Given the description of an element on the screen output the (x, y) to click on. 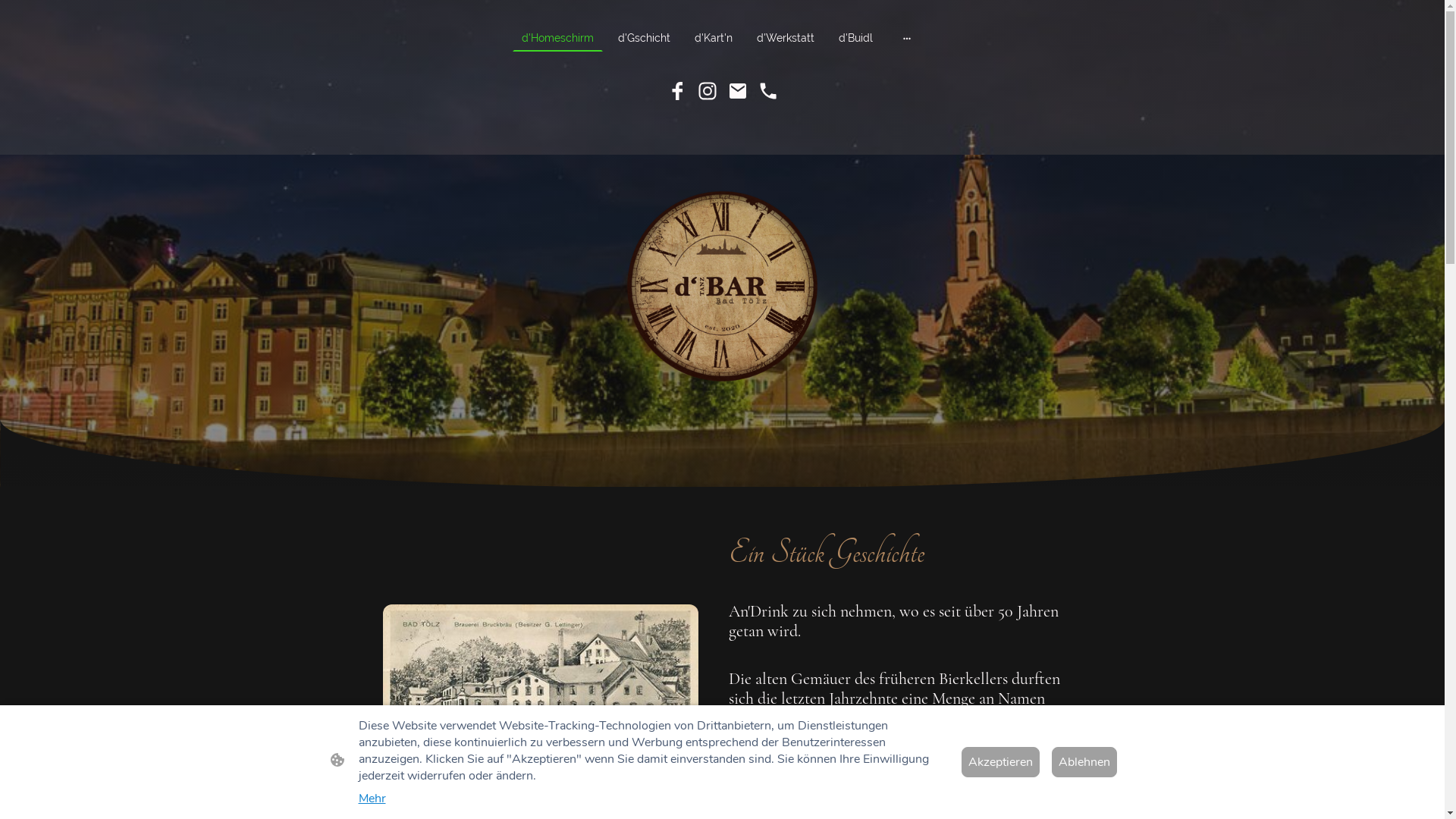
d'Werkstatt Element type: text (785, 37)
Ablehnen Element type: text (1083, 761)
Mehr Element type: text (371, 798)
d'Buidl Element type: text (855, 37)
d'Kart'n Element type: text (713, 37)
Akzeptieren Element type: text (1000, 761)
d'Gschicht Element type: text (643, 37)
d'Homeschirm Element type: text (557, 37)
